Given the description of an element on the screen output the (x, y) to click on. 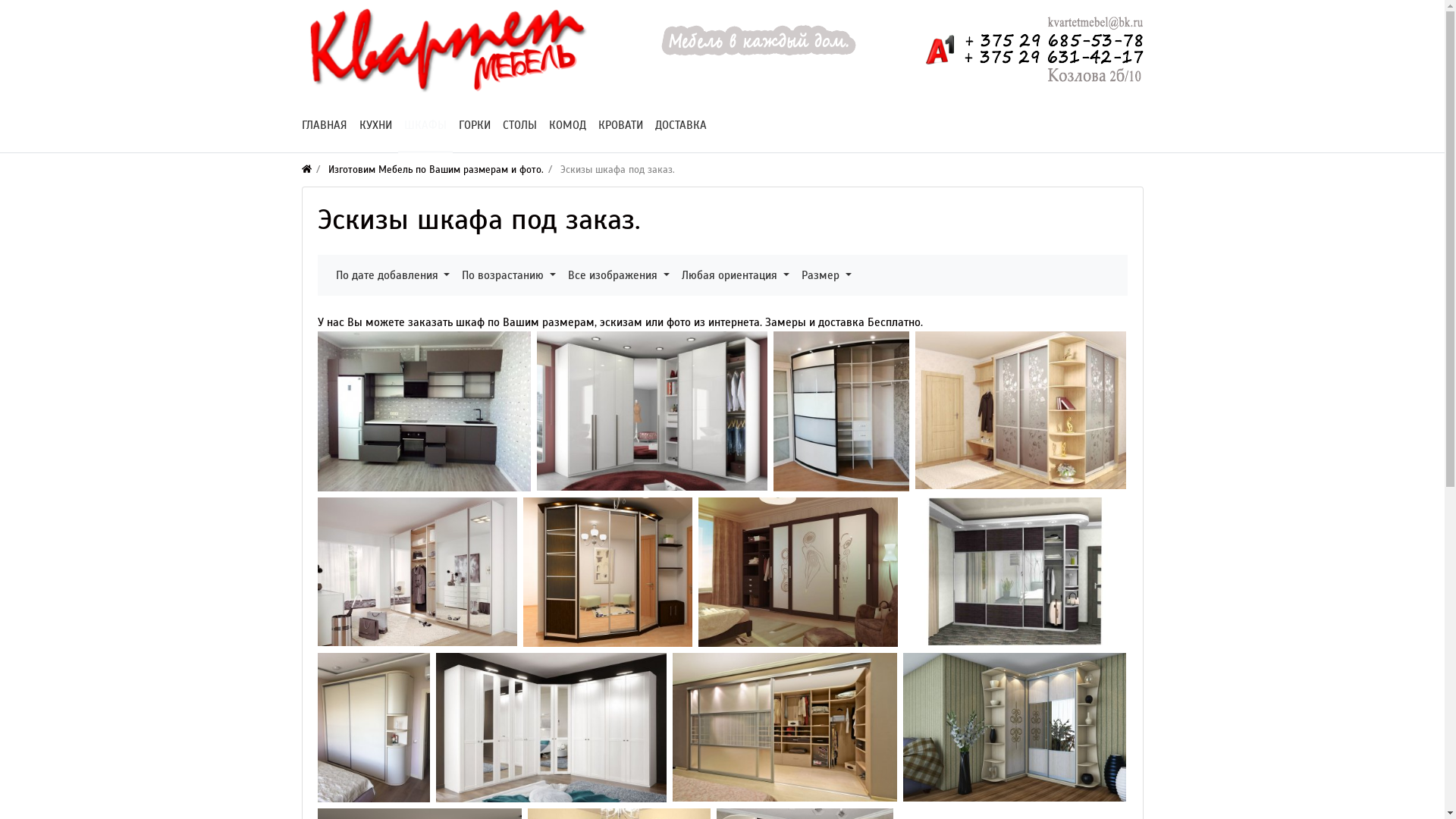
1896324877_w640_h640_shkaf-kupe-s Element type: hover (372, 727)
16010552655176 Element type: hover (423, 411)
158-1000x1000 Element type: hover (1019, 410)
eck-kleiderschrank-alvito-alpinweiss-kleiderstange-fachboden Element type: hover (550, 727)
gardrrobe001 Element type: hover (783, 727)
1044 Element type: hover (797, 571)
686 Element type: hover (607, 572)
885 Element type: hover (416, 571)
3120-1200x800 Element type: hover (1014, 571)
raznovidnosti-shkafov-kupe-27-scaled-1 Element type: hover (1013, 726)
336-700x825 Element type: hover (841, 411)
9e651a046593657ec10a530d20ec17e8 Element type: hover (651, 410)
